Given the description of an element on the screen output the (x, y) to click on. 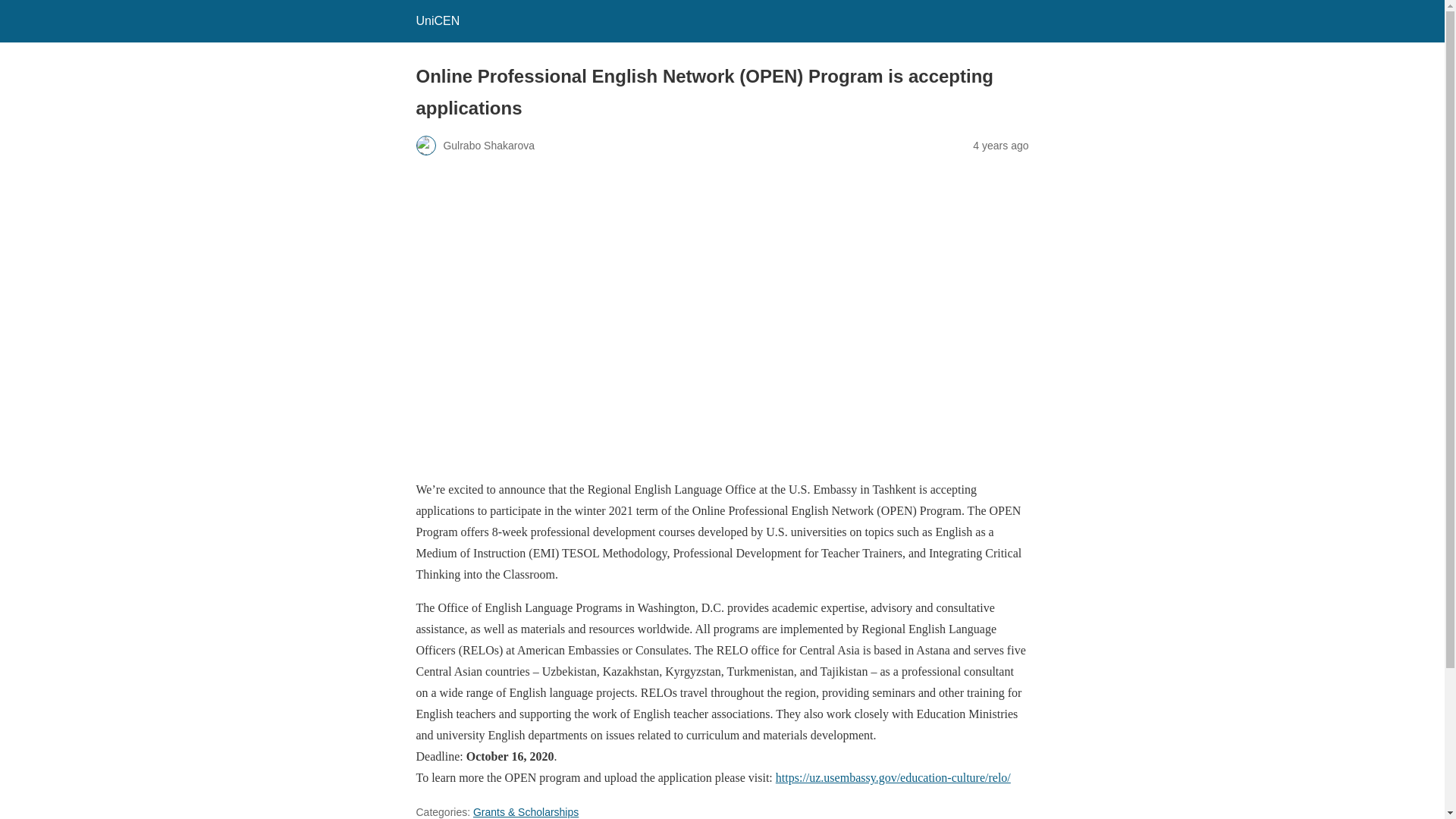
UniCEN (437, 20)
